Given the description of an element on the screen output the (x, y) to click on. 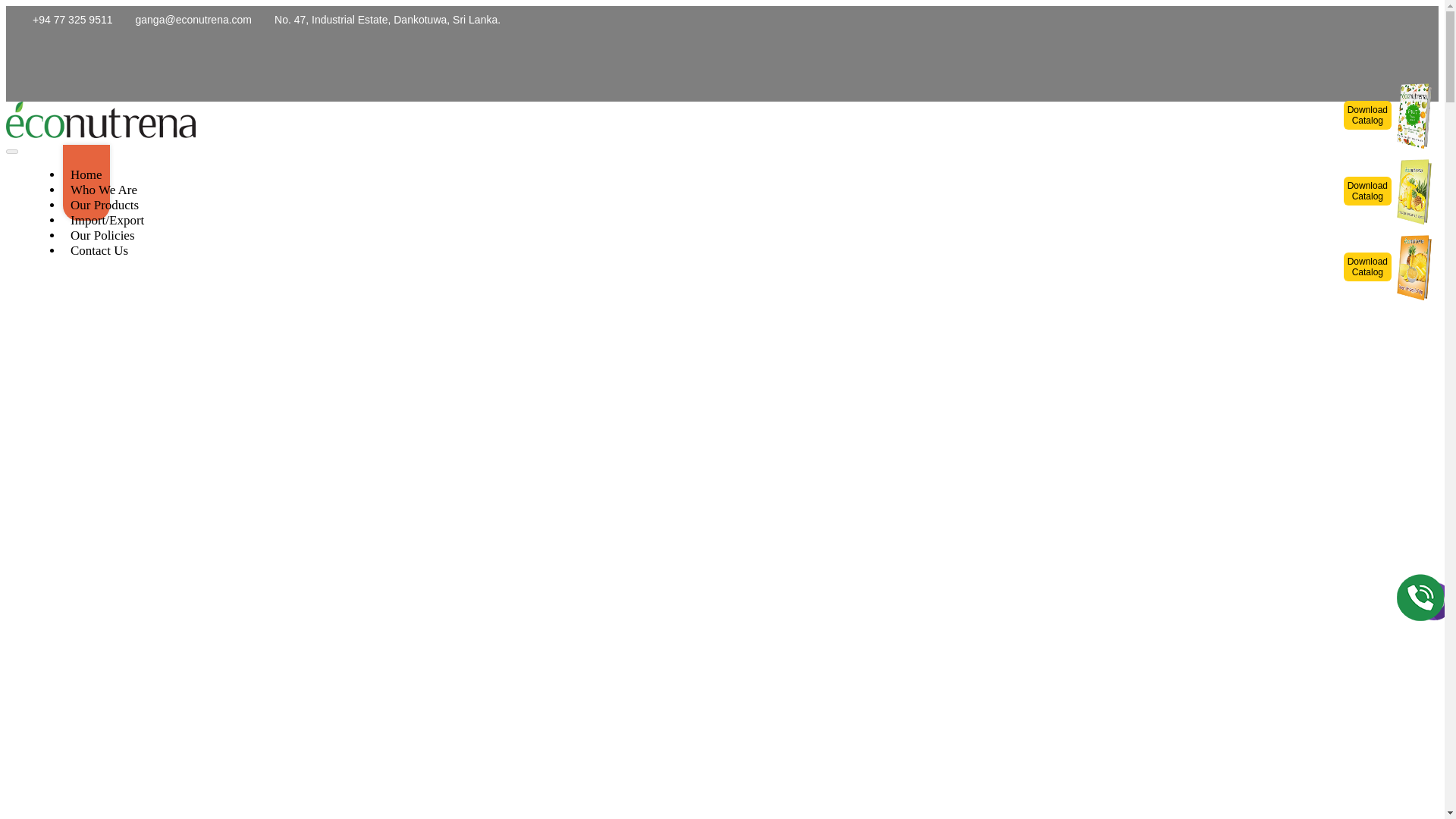
Who We Are (103, 189)
Our Policies (1390, 266)
Our Products (1390, 114)
Contact Us (102, 235)
Home (104, 205)
